Given the description of an element on the screen output the (x, y) to click on. 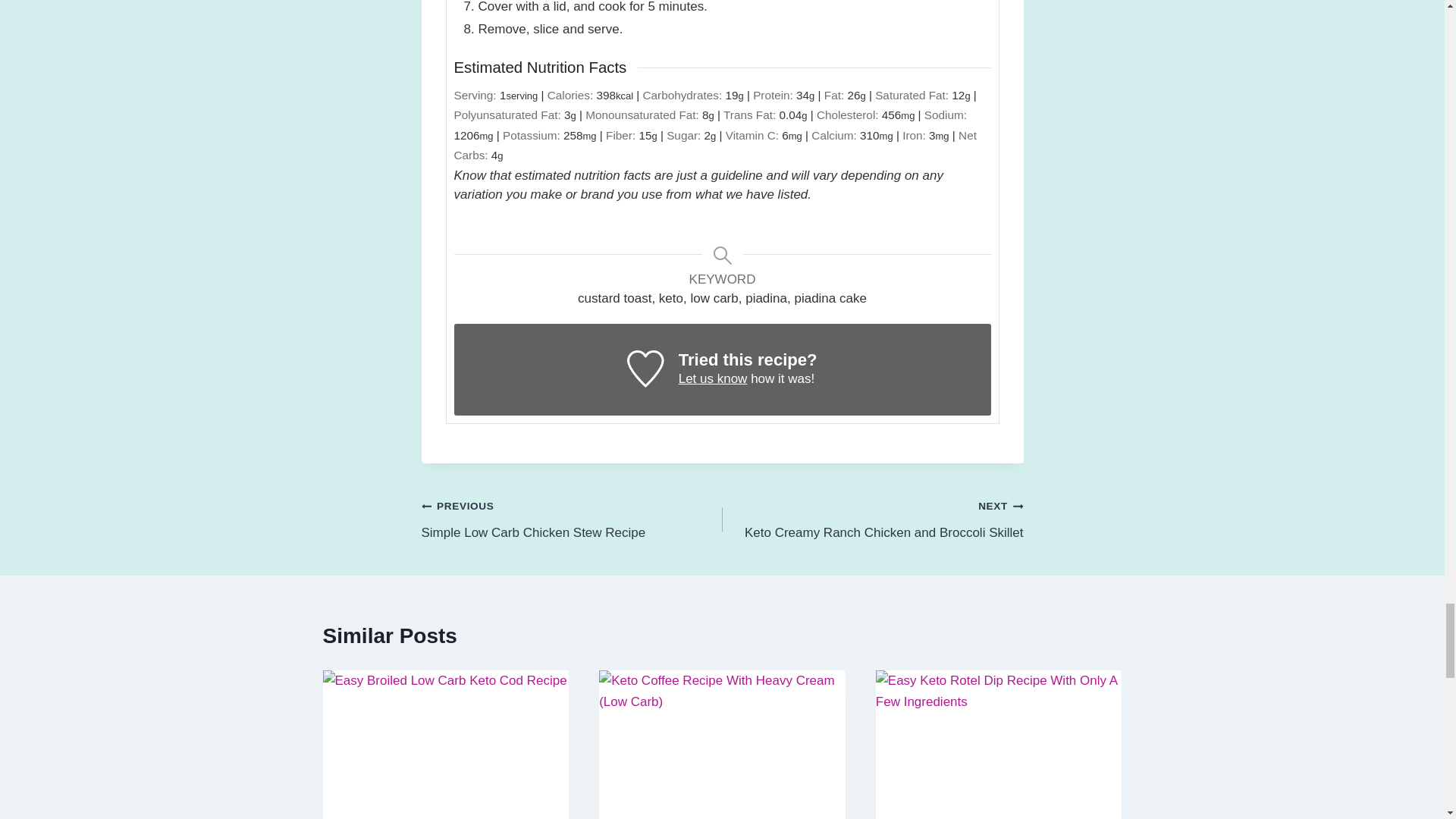
Let us know (713, 378)
